Given the description of an element on the screen output the (x, y) to click on. 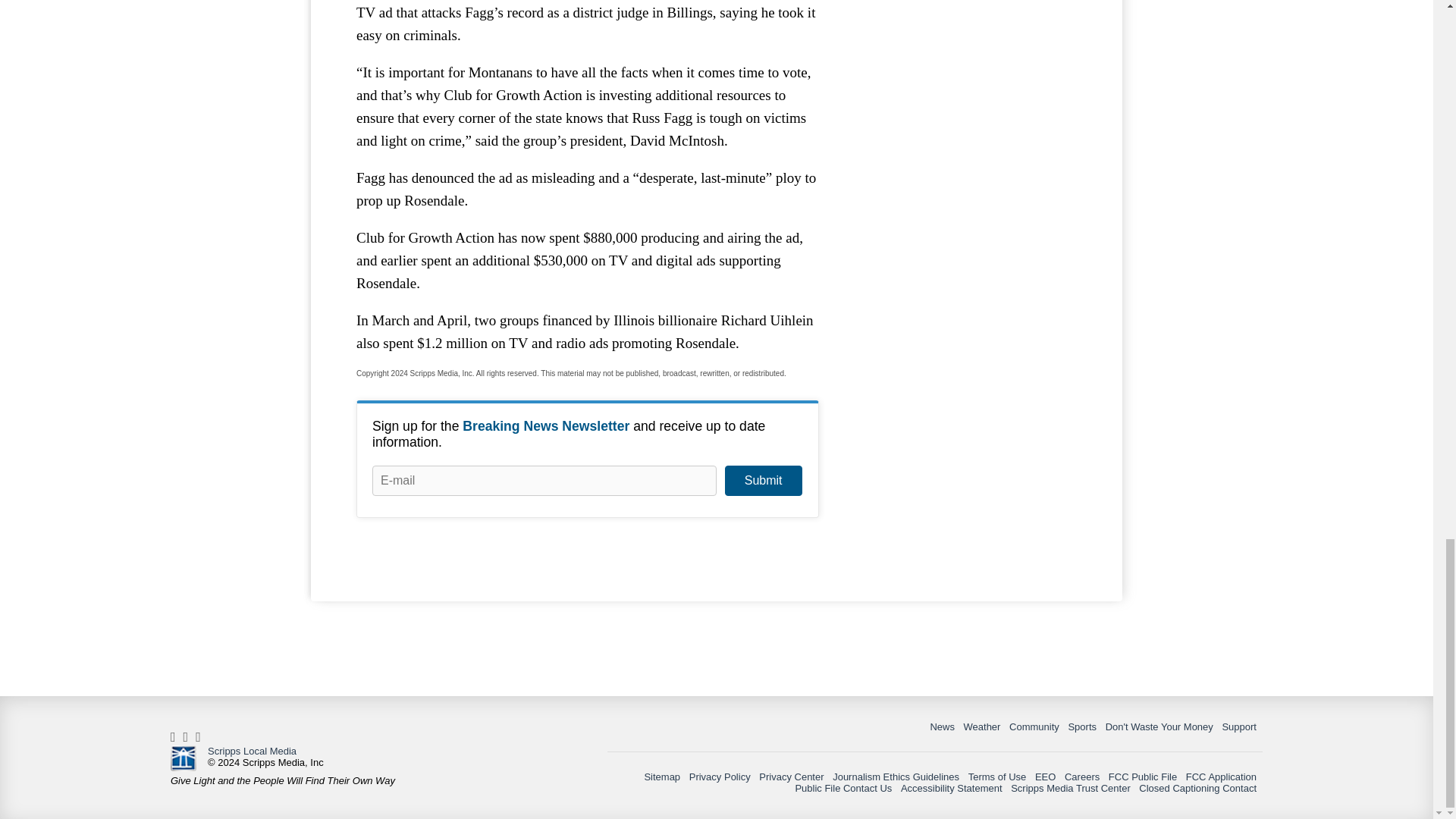
Submit (763, 481)
